Given the description of an element on the screen output the (x, y) to click on. 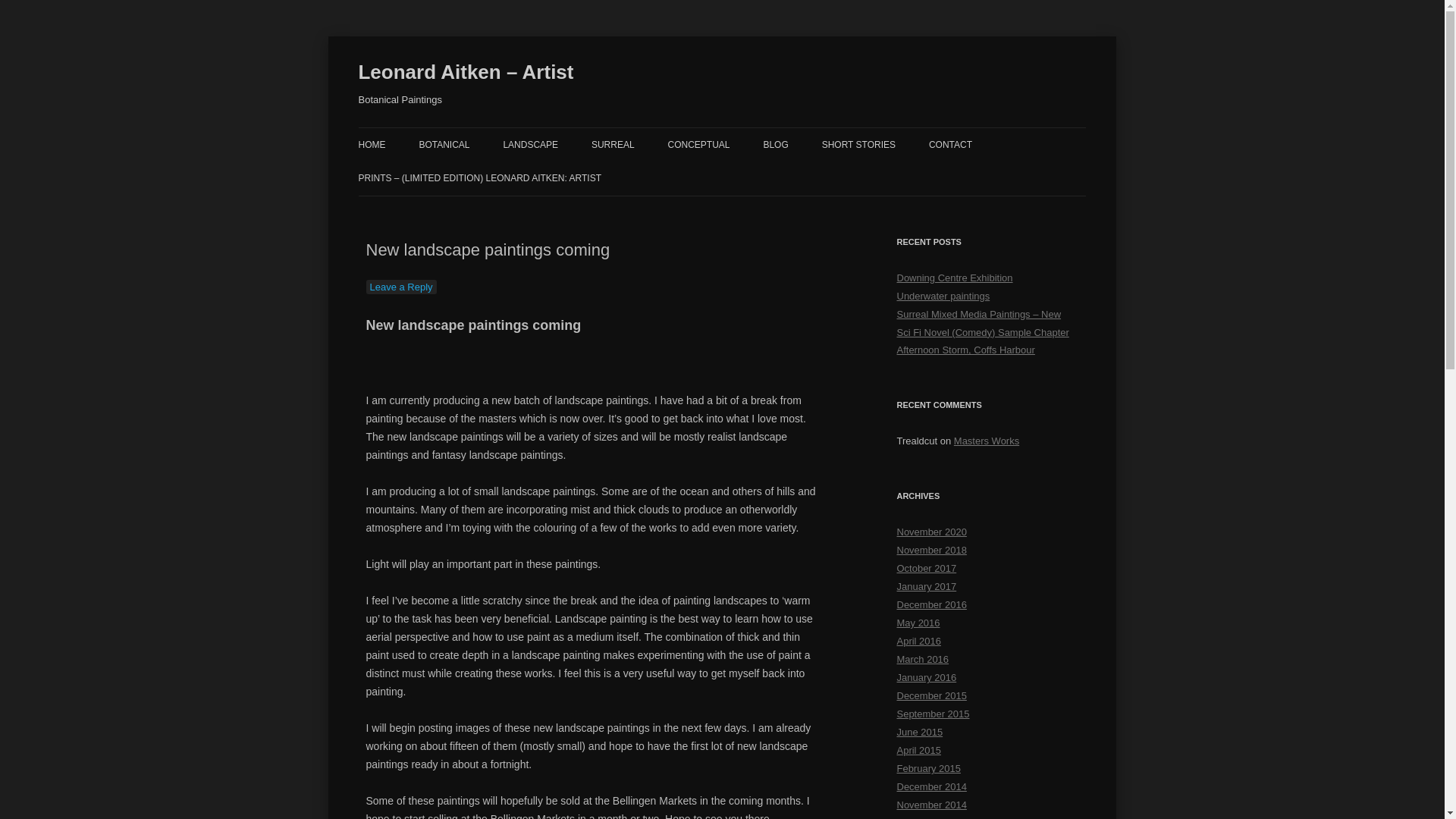
PIANO MUSIC (898, 176)
FAQS (433, 210)
CONCEPTUAL (699, 144)
Downing Centre Exhibition (953, 277)
SURREAL PAINTINGS (666, 176)
SHORT STORIES (858, 144)
BOTANICAL (443, 144)
Underwater paintings (943, 296)
BOTANICAL PAINTINGS (494, 176)
SURREAL (612, 144)
